Given the description of an element on the screen output the (x, y) to click on. 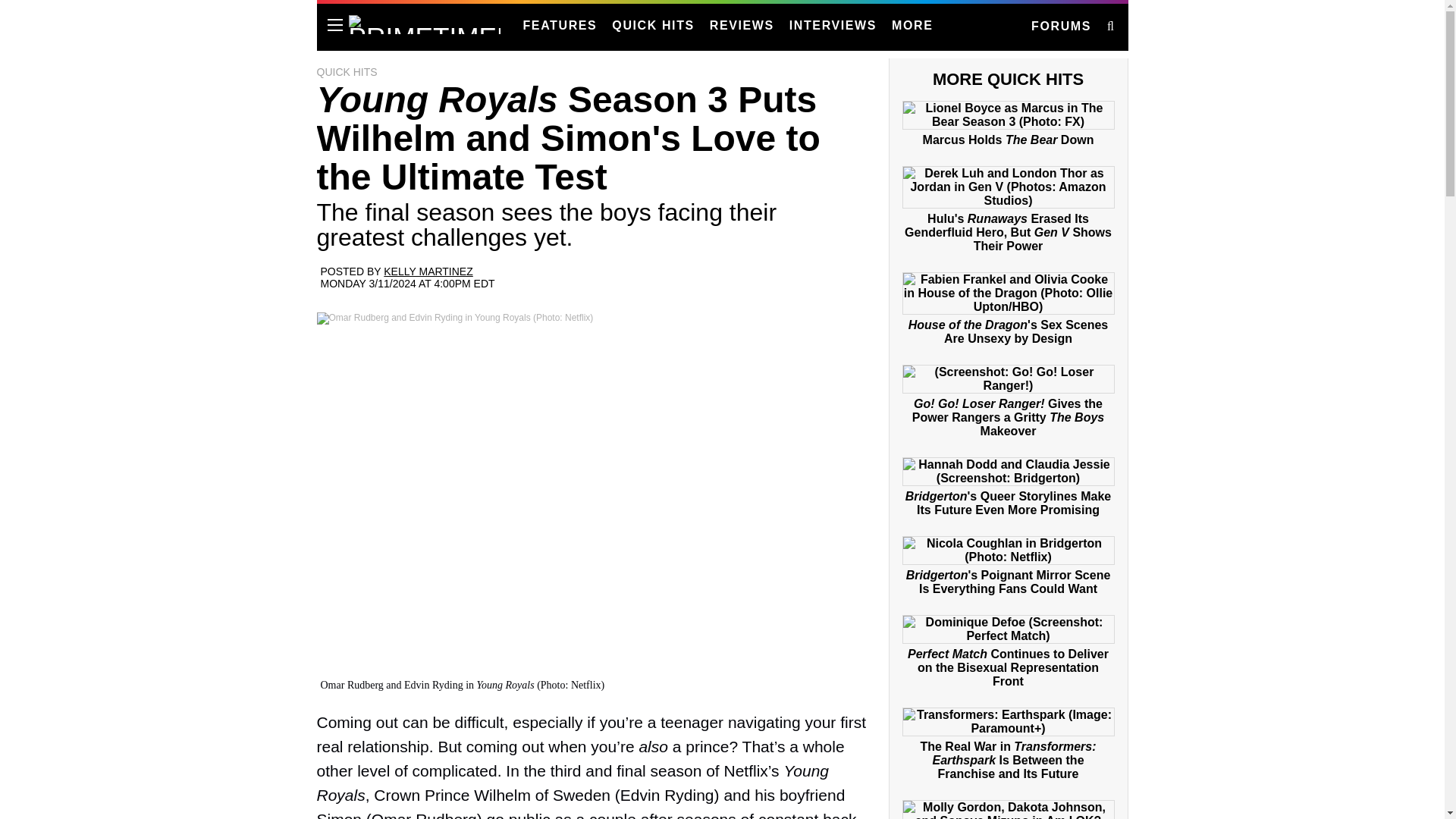
FORUMS (1060, 26)
INTERVIEWS (832, 26)
MORE (912, 26)
KELLY MARTINEZ (427, 271)
FEATURES (559, 26)
REVIEWS (742, 26)
QUICK HITS (652, 26)
